Given the description of an element on the screen output the (x, y) to click on. 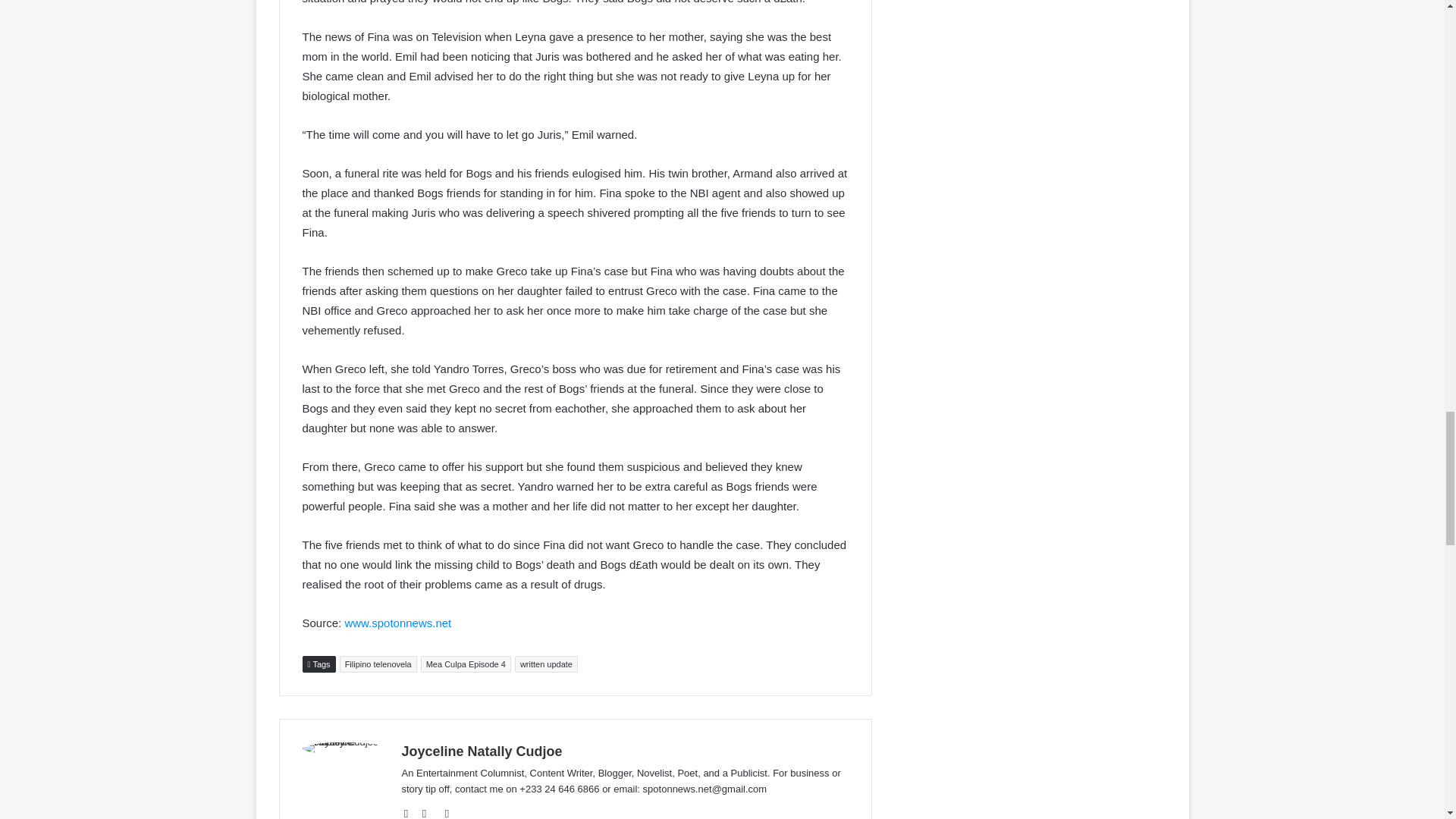
www.spotonnews.net (397, 622)
Filipino telenovela (377, 664)
